Given the description of an element on the screen output the (x, y) to click on. 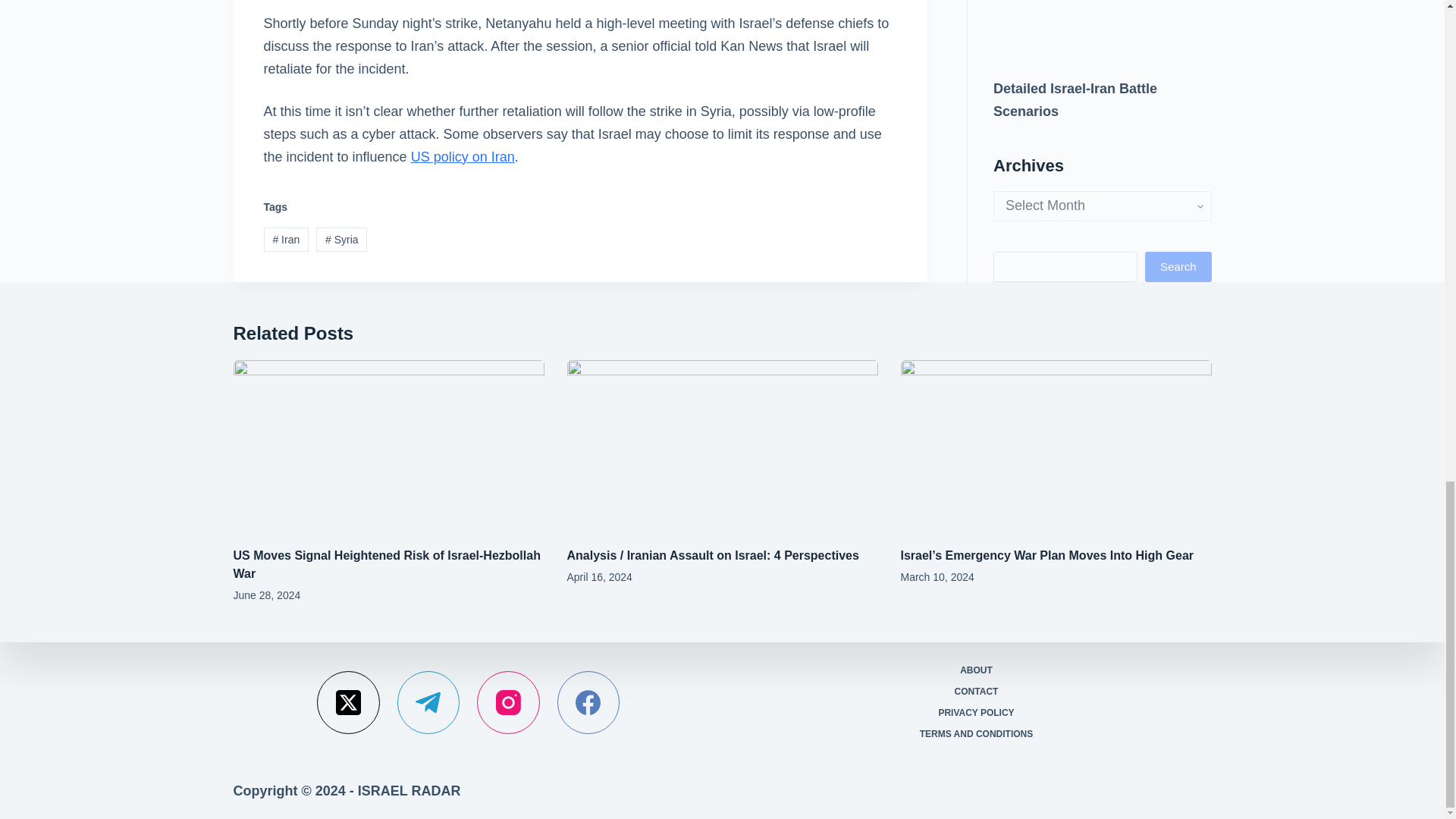
US Moves Signal Heightened Risk of Israel-Hezbollah War (386, 563)
US policy on Iran (462, 156)
